Given the description of an element on the screen output the (x, y) to click on. 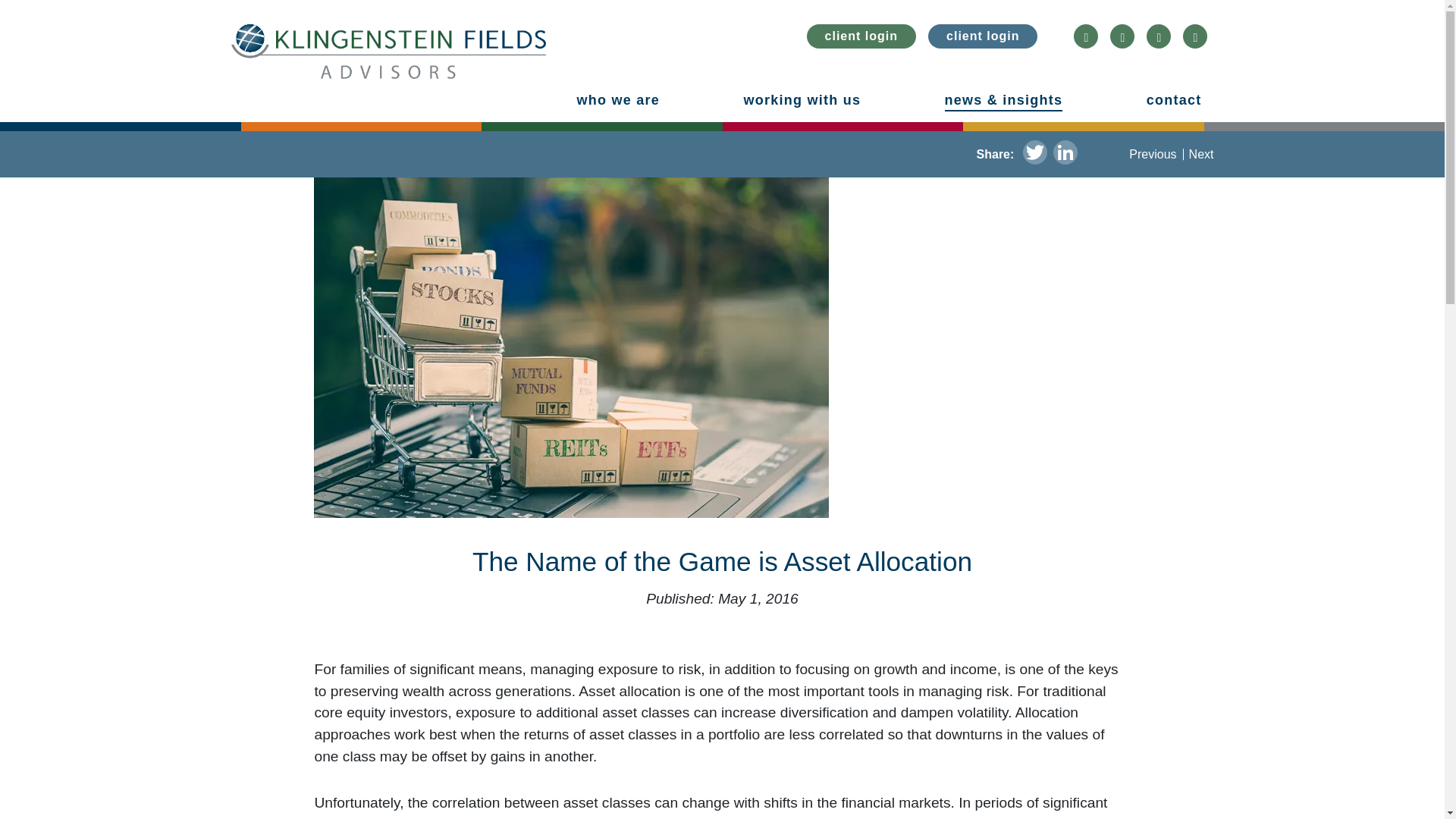
client login (860, 36)
LinkedIn (1064, 154)
working with us (801, 99)
Twitter (1034, 154)
Next (1201, 154)
client login (982, 36)
who we are (617, 99)
Previous (1152, 154)
contact (1174, 99)
LinkedIn (1064, 154)
Twitter (1034, 154)
